Given the description of an element on the screen output the (x, y) to click on. 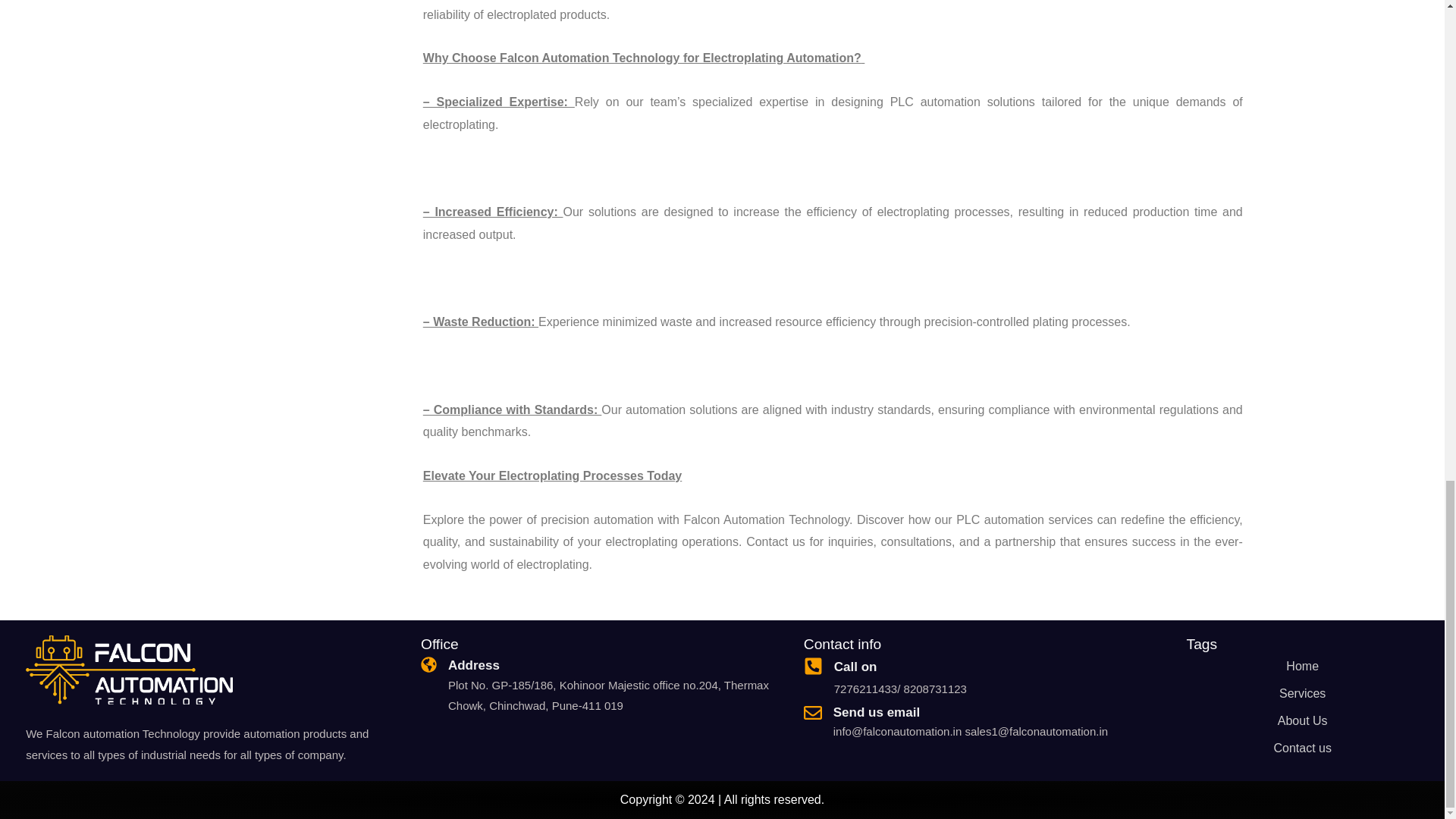
Contact us (1302, 748)
Home (1302, 666)
About Us (1302, 720)
Services (1302, 693)
home (1302, 666)
